Given the description of an element on the screen output the (x, y) to click on. 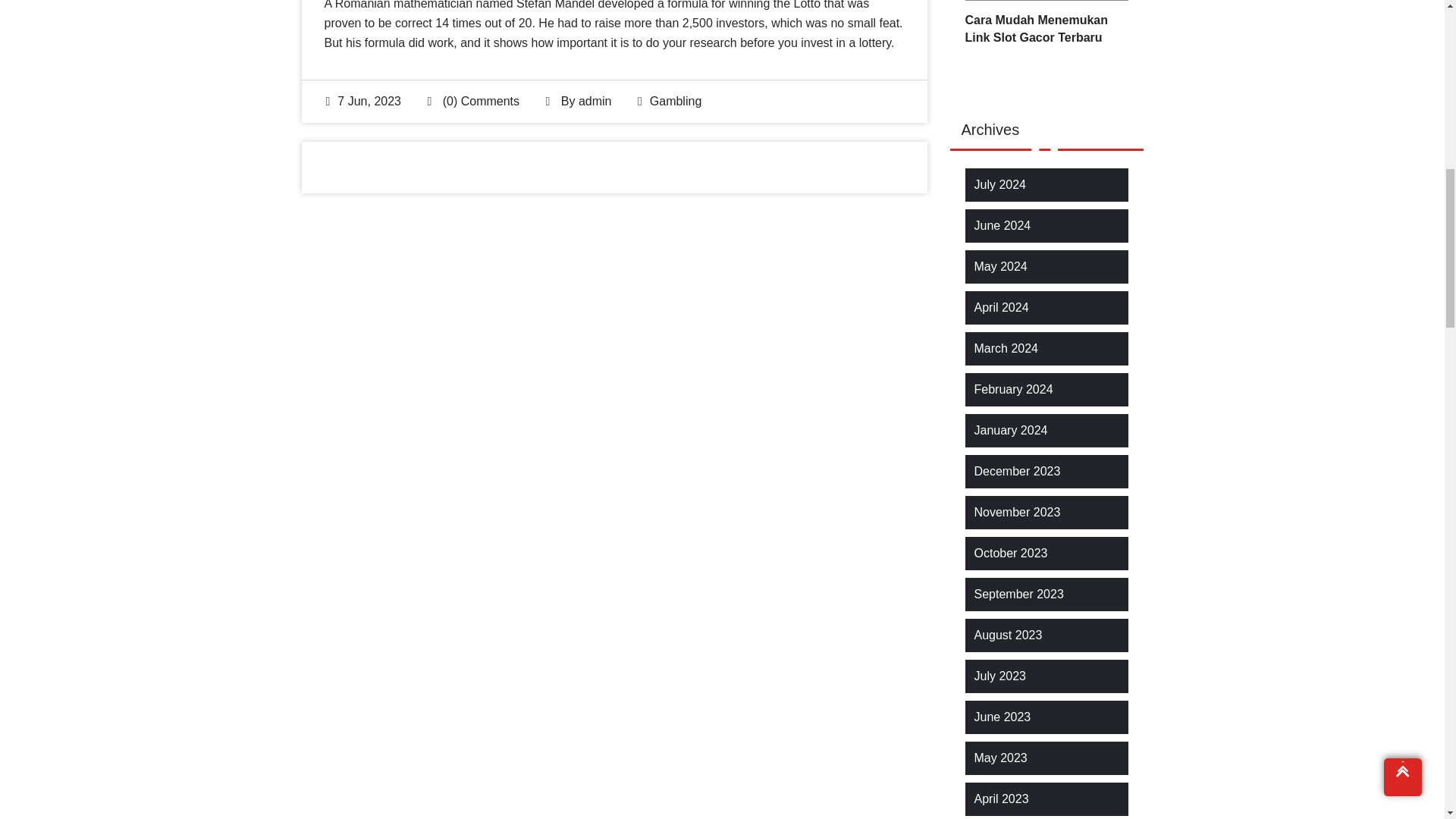
July 2023 (1000, 676)
September 2023 (1018, 594)
January 2024 (1010, 430)
June 2024 (1002, 226)
June 2023 (1002, 717)
admin (594, 101)
April 2023 (1000, 799)
April 2024 (1000, 307)
May 2024 (1000, 266)
Cara Mudah Menemukan Link Slot Gacor Terbaru (1044, 28)
August 2023 (1008, 635)
November 2023 (1016, 512)
February 2024 (1013, 389)
March 2024 (1006, 348)
May 2023 (1000, 758)
